Given the description of an element on the screen output the (x, y) to click on. 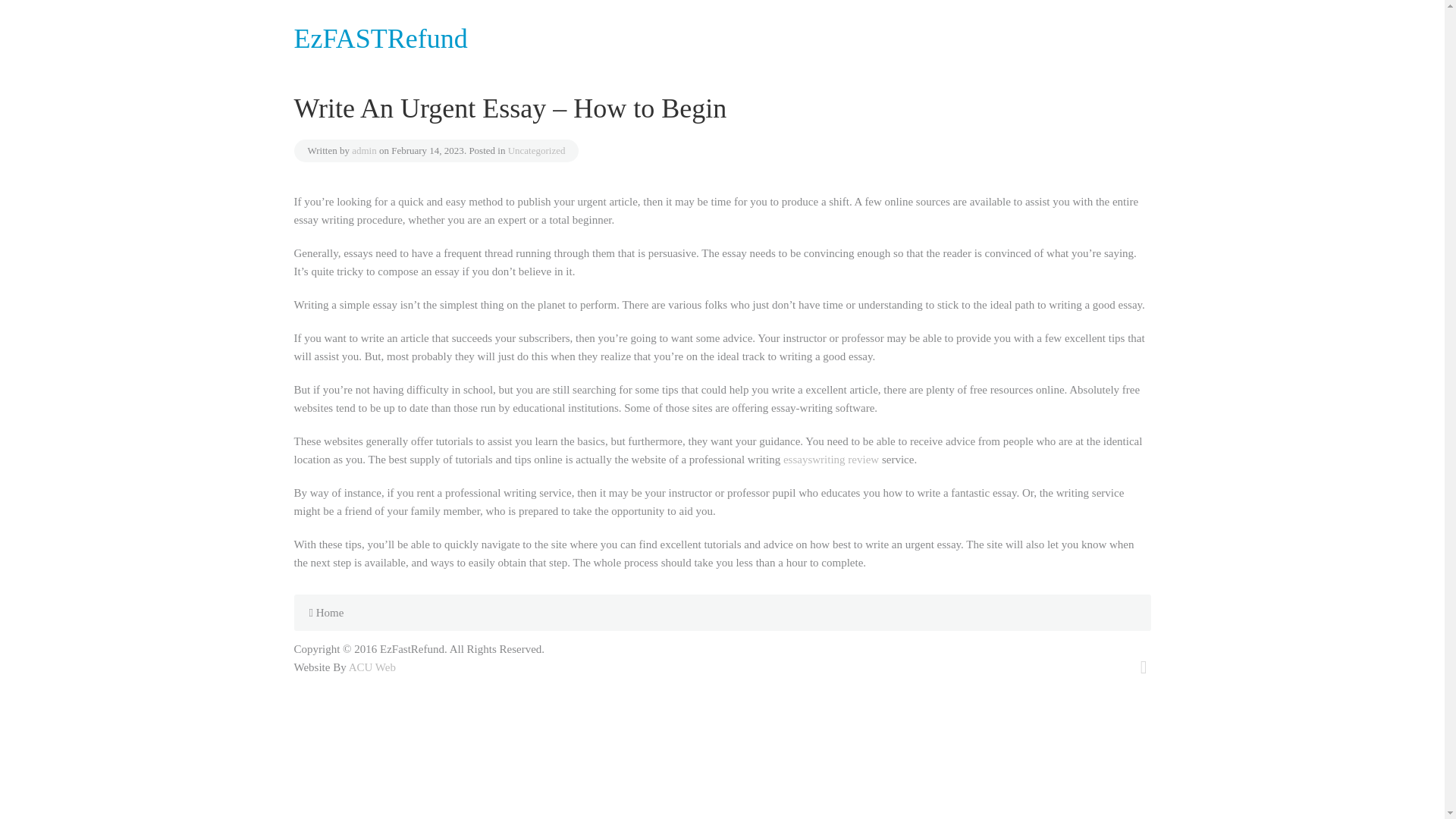
essayswriting review (831, 459)
admin (364, 150)
Home (325, 612)
EzFASTRefund (380, 45)
Uncategorized (537, 150)
admin (364, 150)
ACU Web (372, 666)
